Given the description of an element on the screen output the (x, y) to click on. 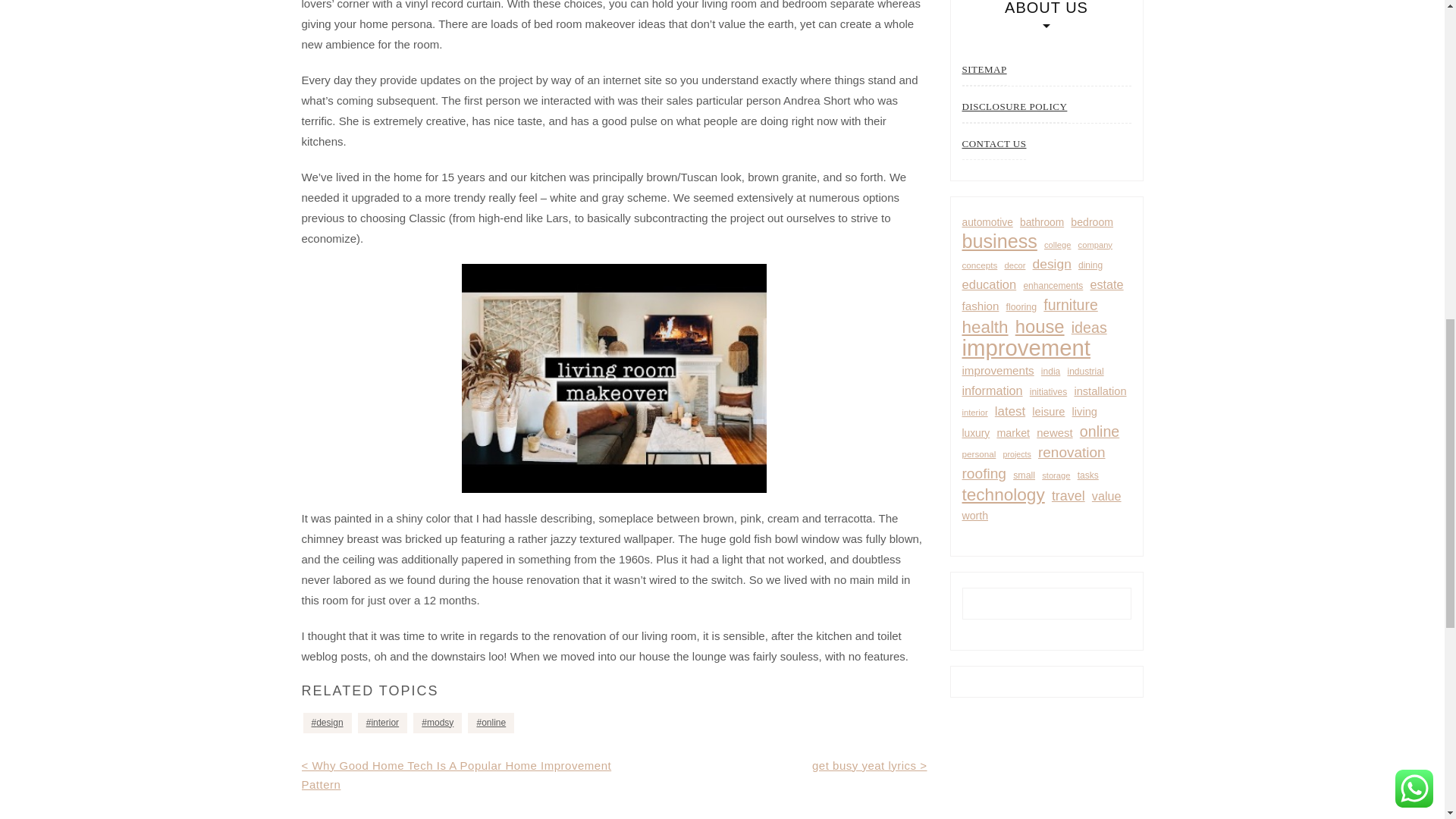
SITEMAP (983, 69)
interior (382, 722)
automotive (985, 221)
modsy (437, 722)
CONTACT US (993, 143)
DISCLOSURE POLICY (1013, 106)
online (490, 722)
design (327, 722)
